Given the description of an element on the screen output the (x, y) to click on. 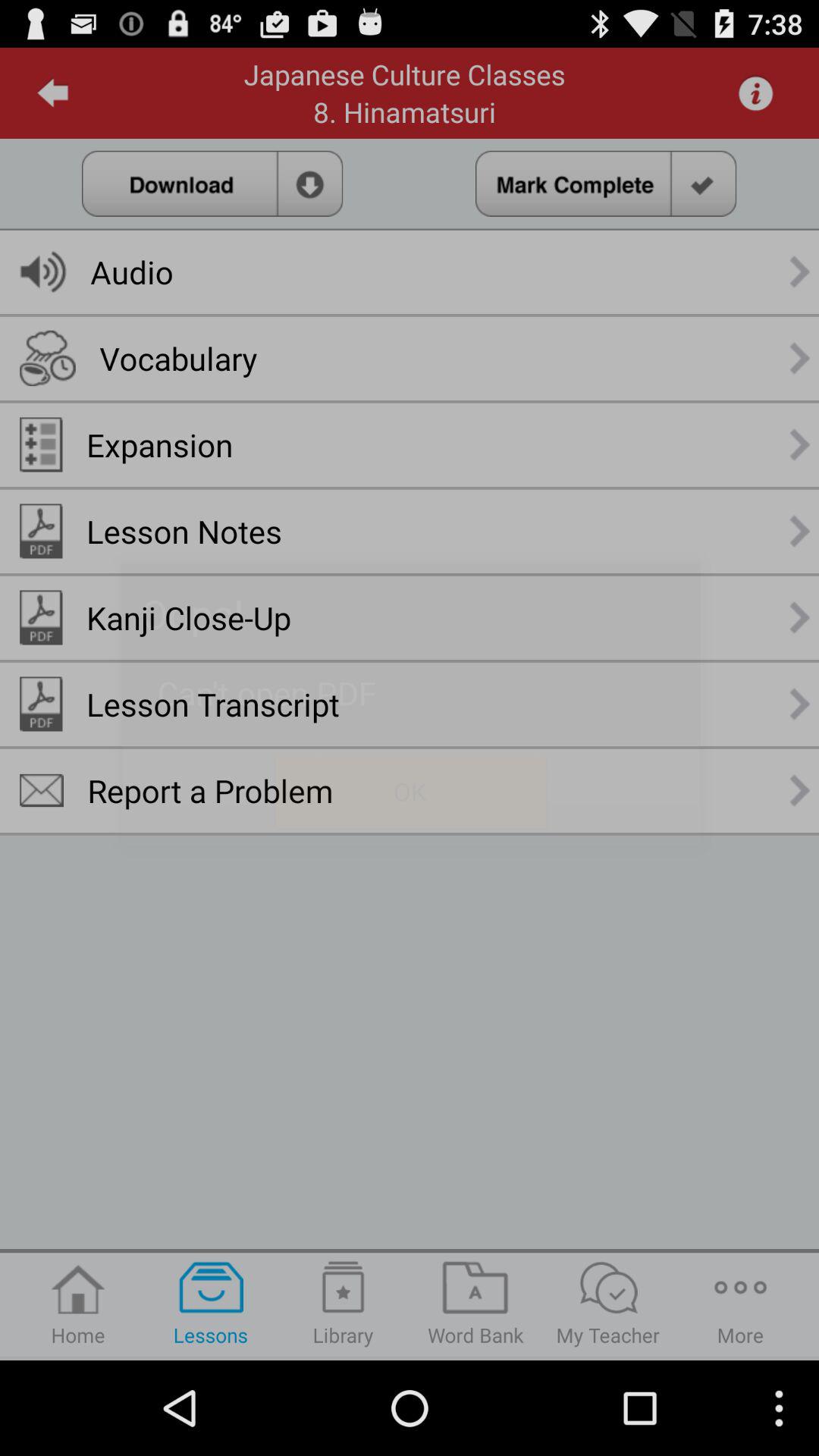
turn off the item next to the japanese culture classes (53, 93)
